Given the description of an element on the screen output the (x, y) to click on. 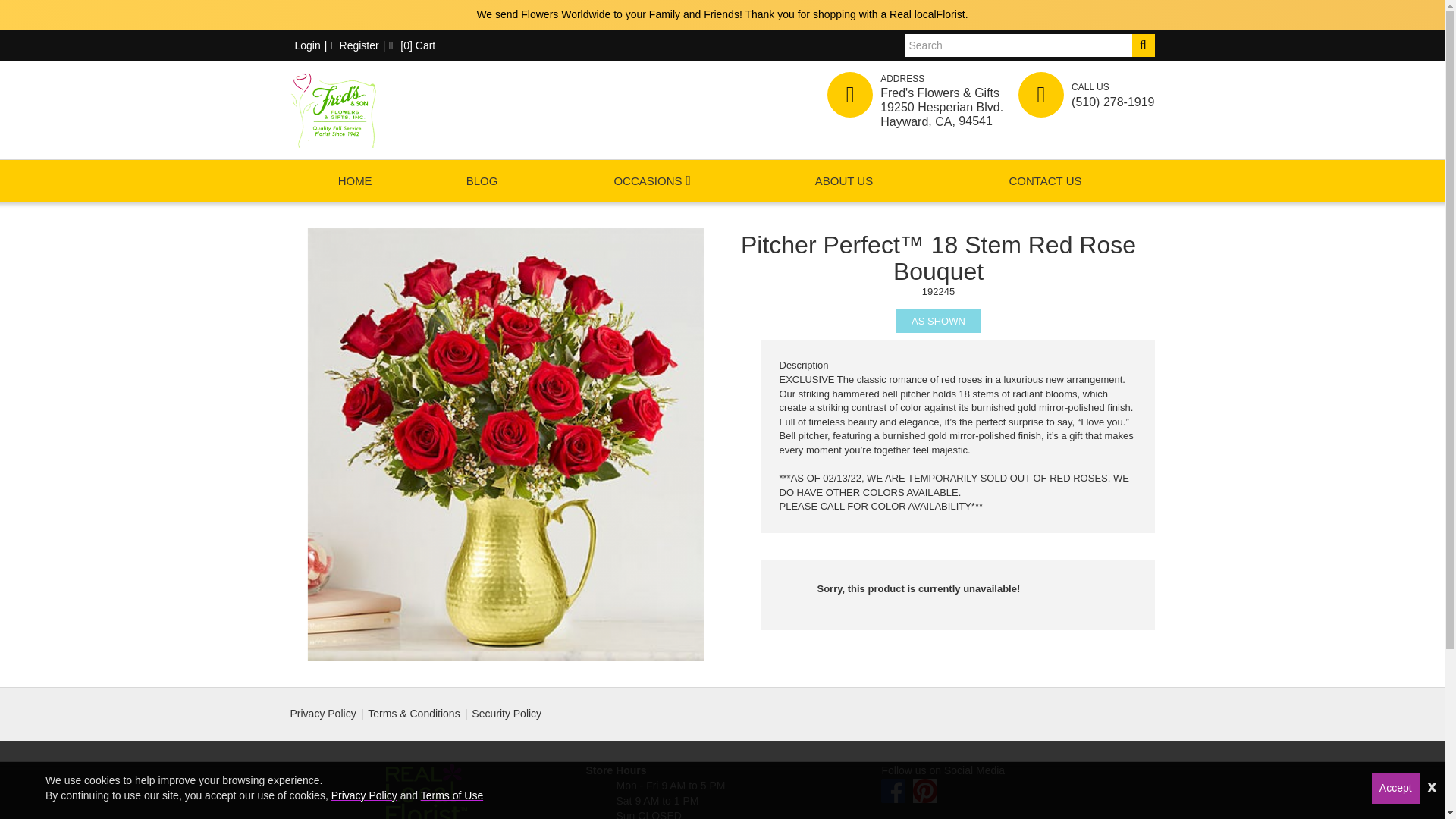
Privacy Policy (322, 713)
Privacy Policy (364, 795)
Terms of Use (451, 795)
BLOG (482, 180)
CONTACT US (1045, 180)
HOME (354, 180)
OCCASIONS (647, 180)
Register (354, 45)
AS SHOWN (937, 320)
ABOUT US (843, 180)
Login (304, 45)
Security Policy (506, 713)
